Given the description of an element on the screen output the (x, y) to click on. 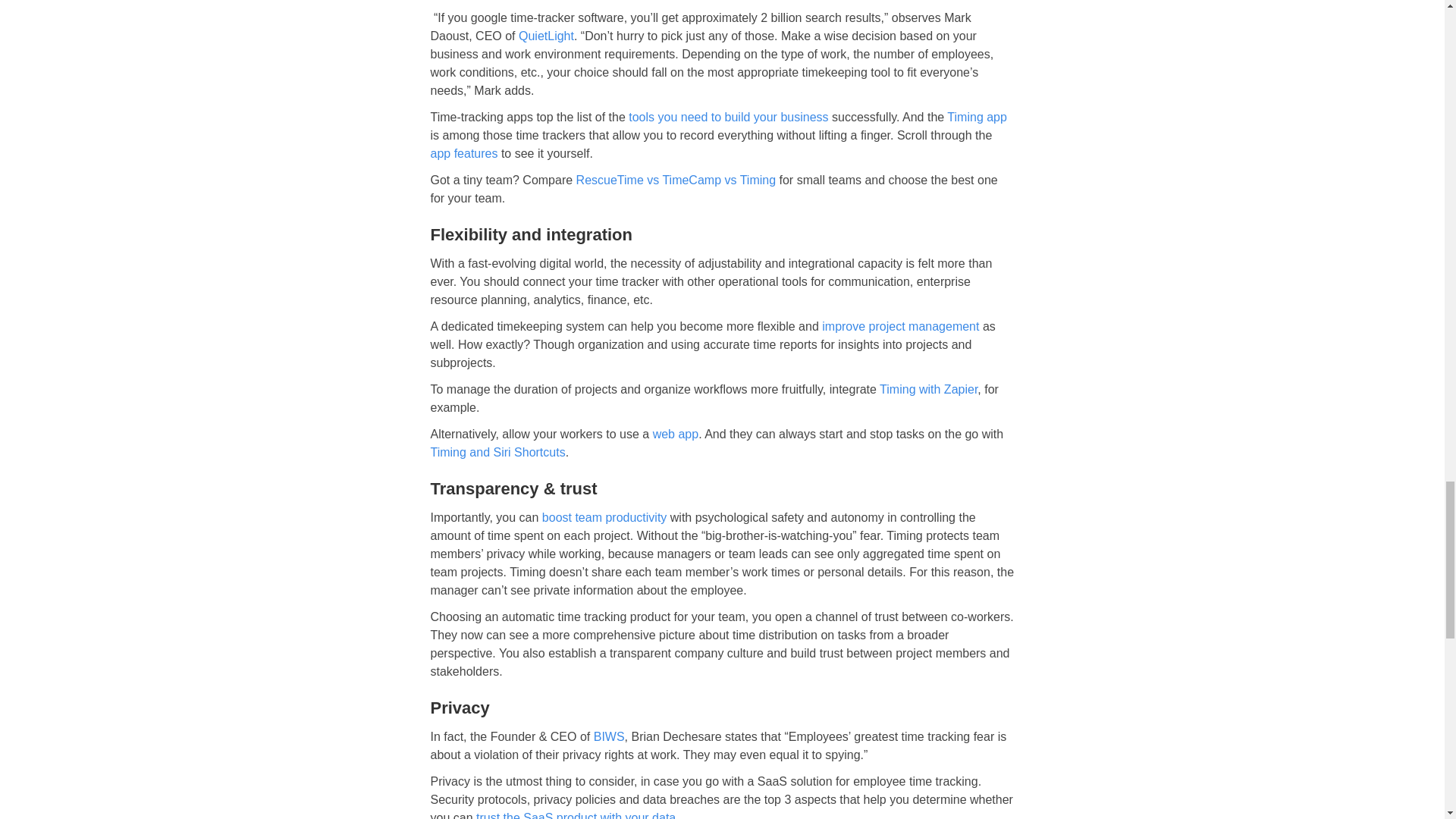
Timing with Zapier (927, 389)
Timing app (977, 116)
app features (463, 153)
BIWS (609, 736)
RescueTime vs TimeCamp vs Timing (676, 179)
web app (675, 433)
boost team productivity (603, 517)
trust the SaaS product with your data (575, 815)
QuietLight (545, 35)
tools you need to build your business (728, 116)
